Given the description of an element on the screen output the (x, y) to click on. 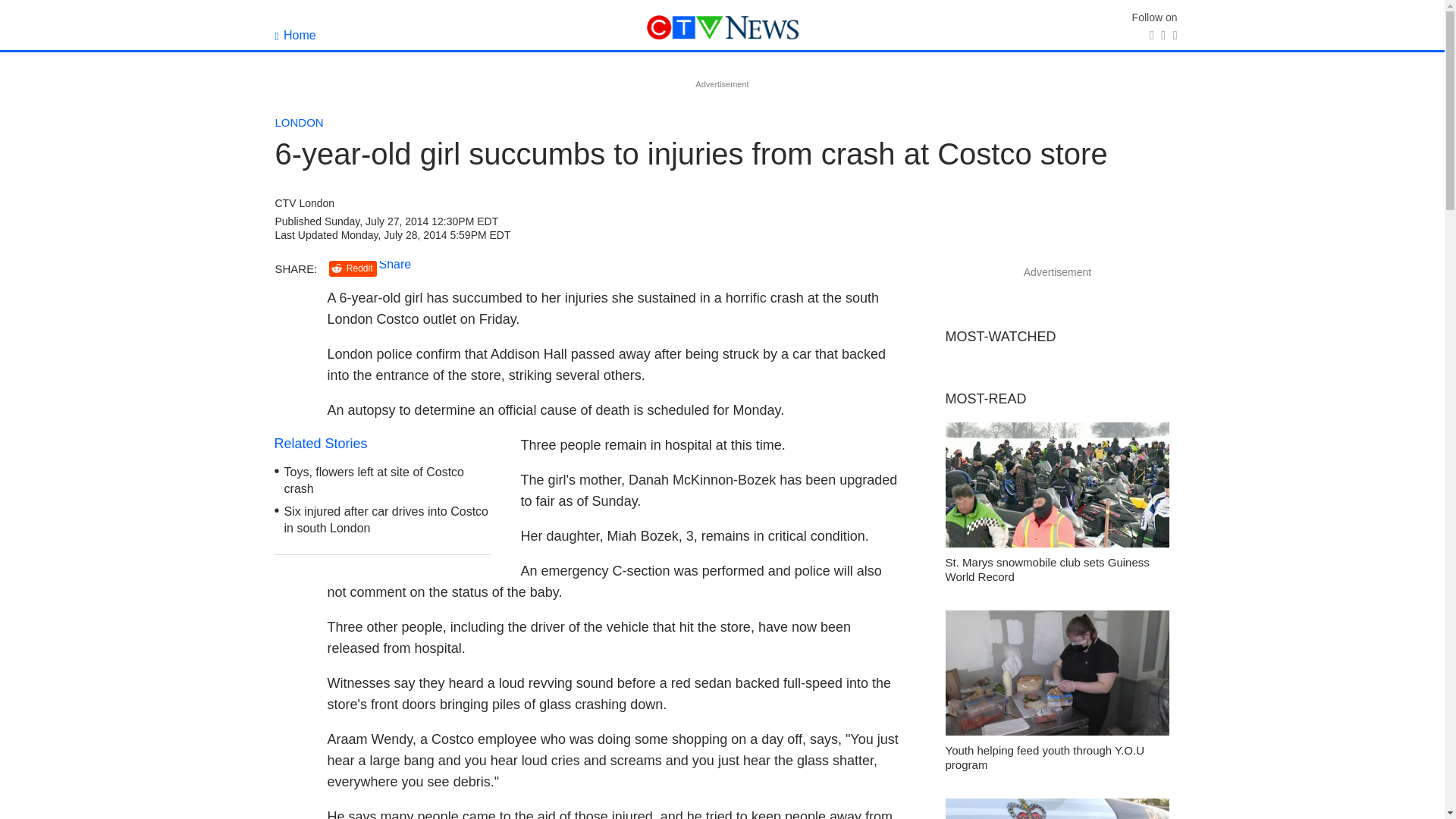
Reddit (353, 268)
Six injured after car drives into Costco in south London (385, 520)
LONDON (299, 122)
Toys, flowers left at site of Costco crash (373, 481)
Home (295, 34)
Share (395, 264)
